Given the description of an element on the screen output the (x, y) to click on. 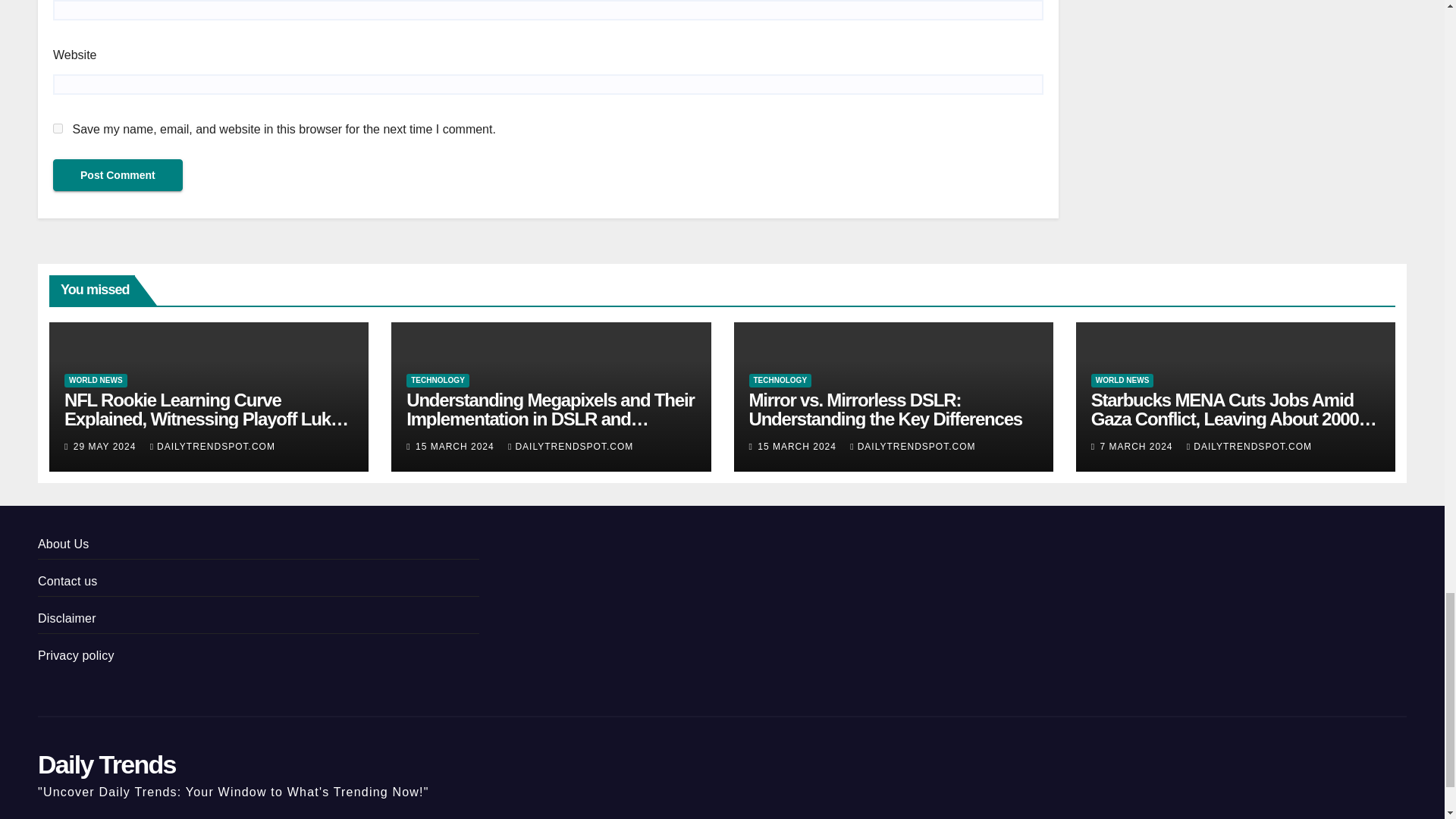
yes (57, 128)
Post Comment (117, 174)
